Given the description of an element on the screen output the (x, y) to click on. 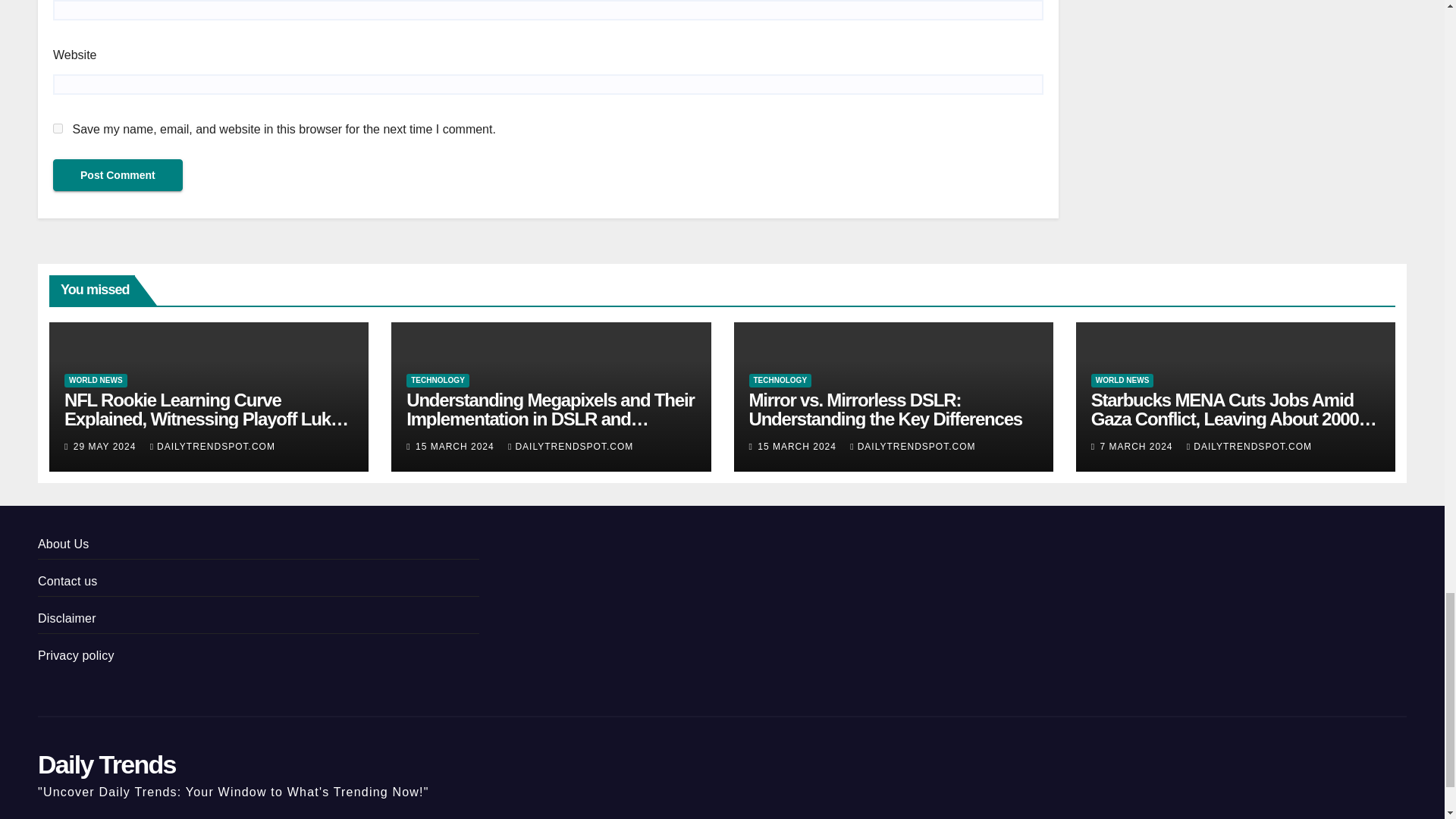
yes (57, 128)
Post Comment (117, 174)
